Given the description of an element on the screen output the (x, y) to click on. 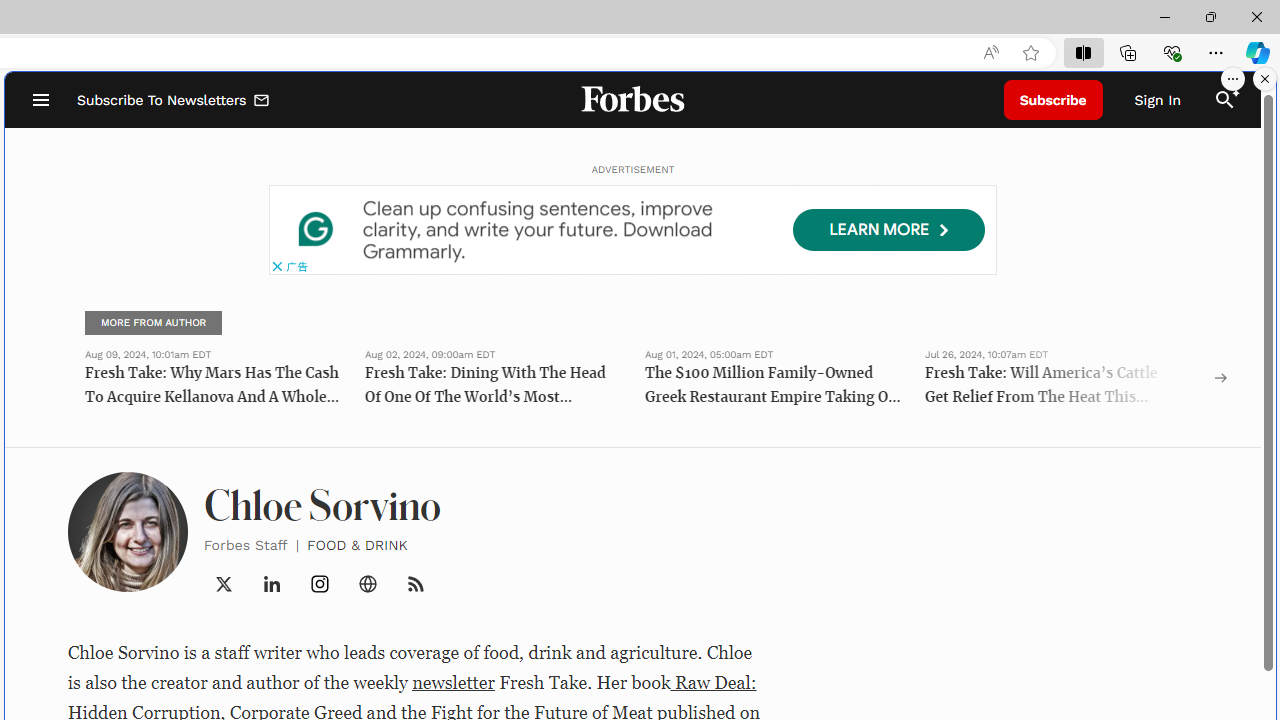
More options. (1233, 79)
